Given the description of an element on the screen output the (x, y) to click on. 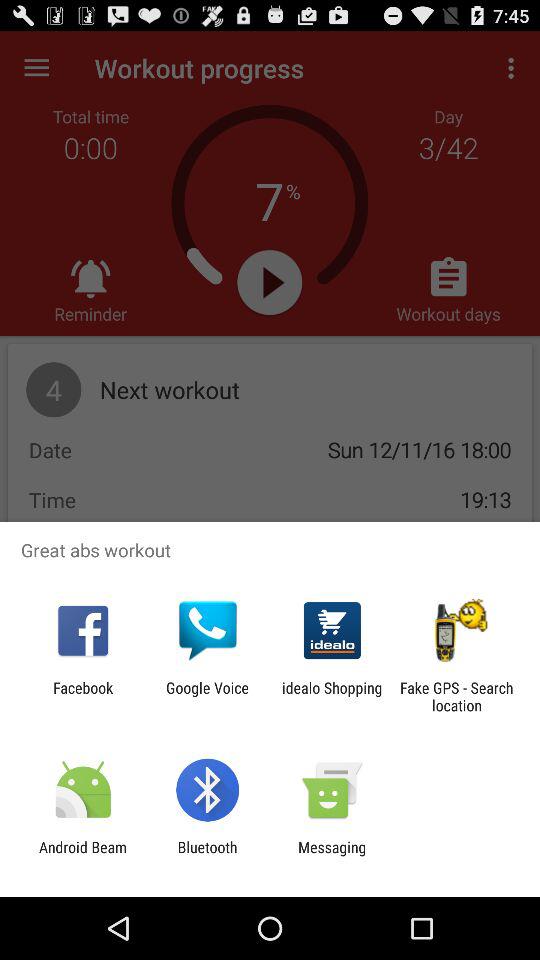
turn on the google voice (207, 696)
